Given the description of an element on the screen output the (x, y) to click on. 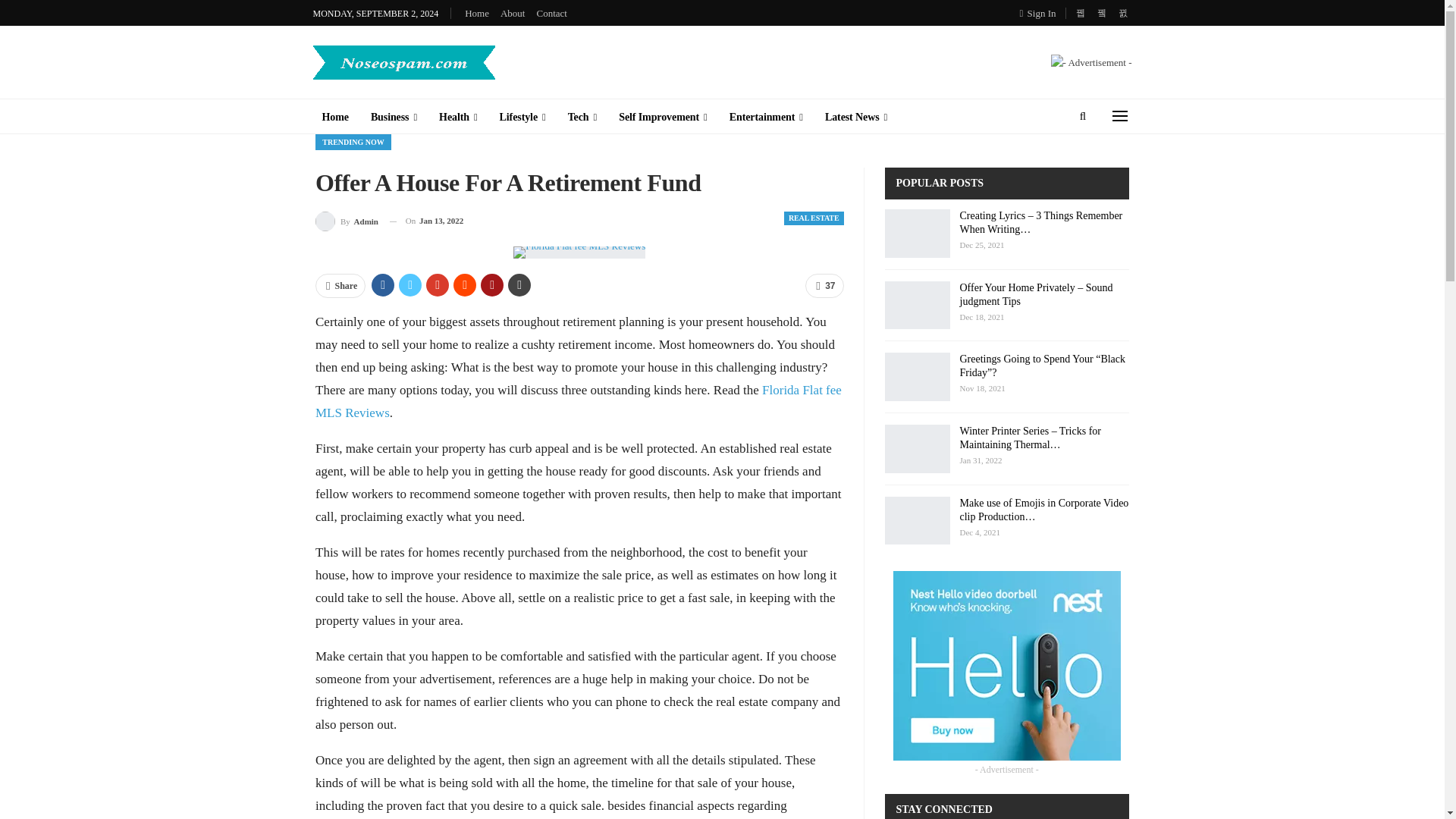
Tech (583, 117)
Sign In (1041, 13)
Browse Author Articles (346, 220)
Lifestyle (522, 117)
Home (476, 12)
Contact (550, 12)
About (512, 12)
Home (334, 117)
Business (393, 117)
Health (457, 117)
